Given the description of an element on the screen output the (x, y) to click on. 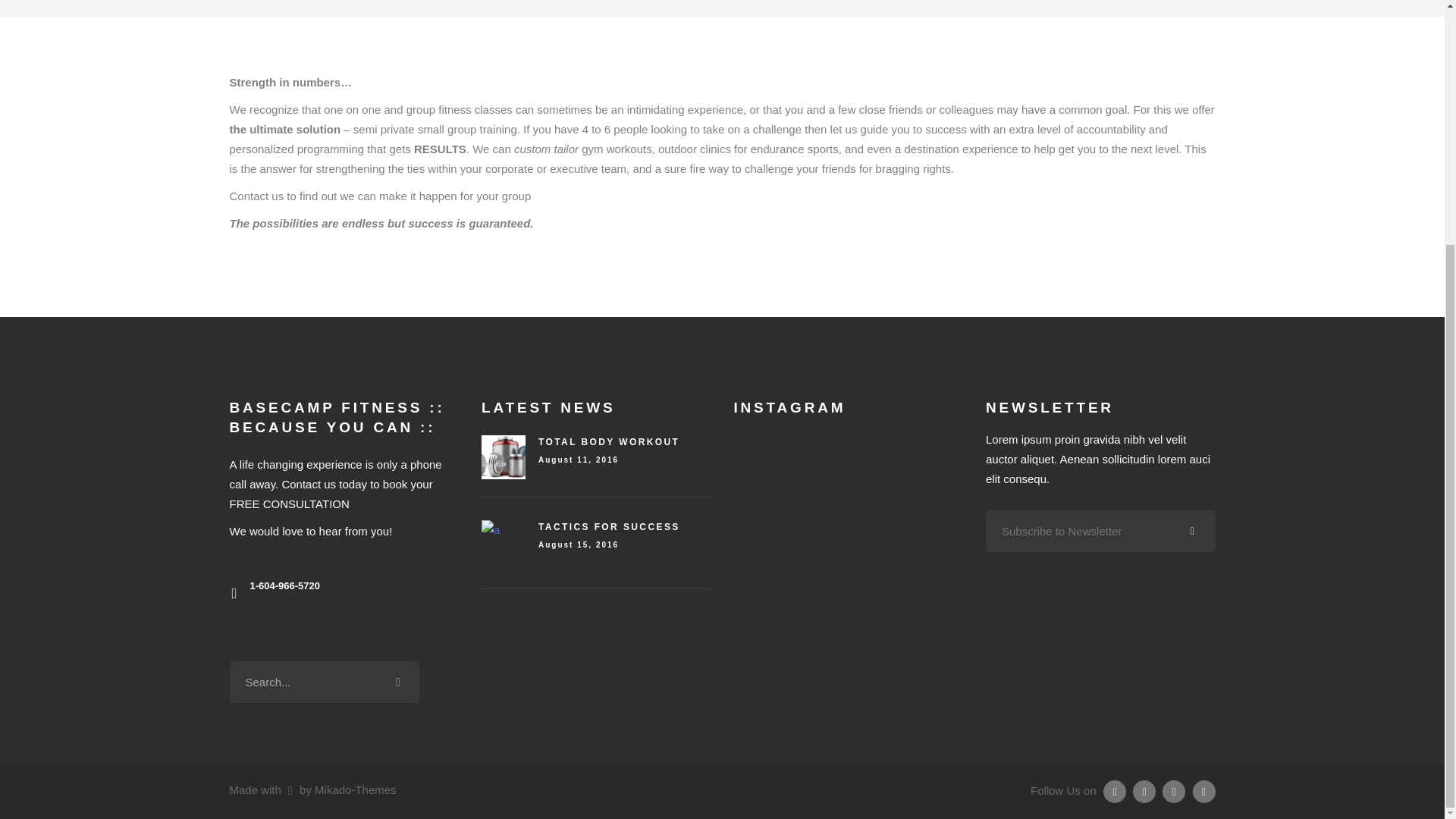
TACTICS FOR SUCCESS (608, 526)
TOTAL BODY WORKOUT (608, 441)
